Given the description of an element on the screen output the (x, y) to click on. 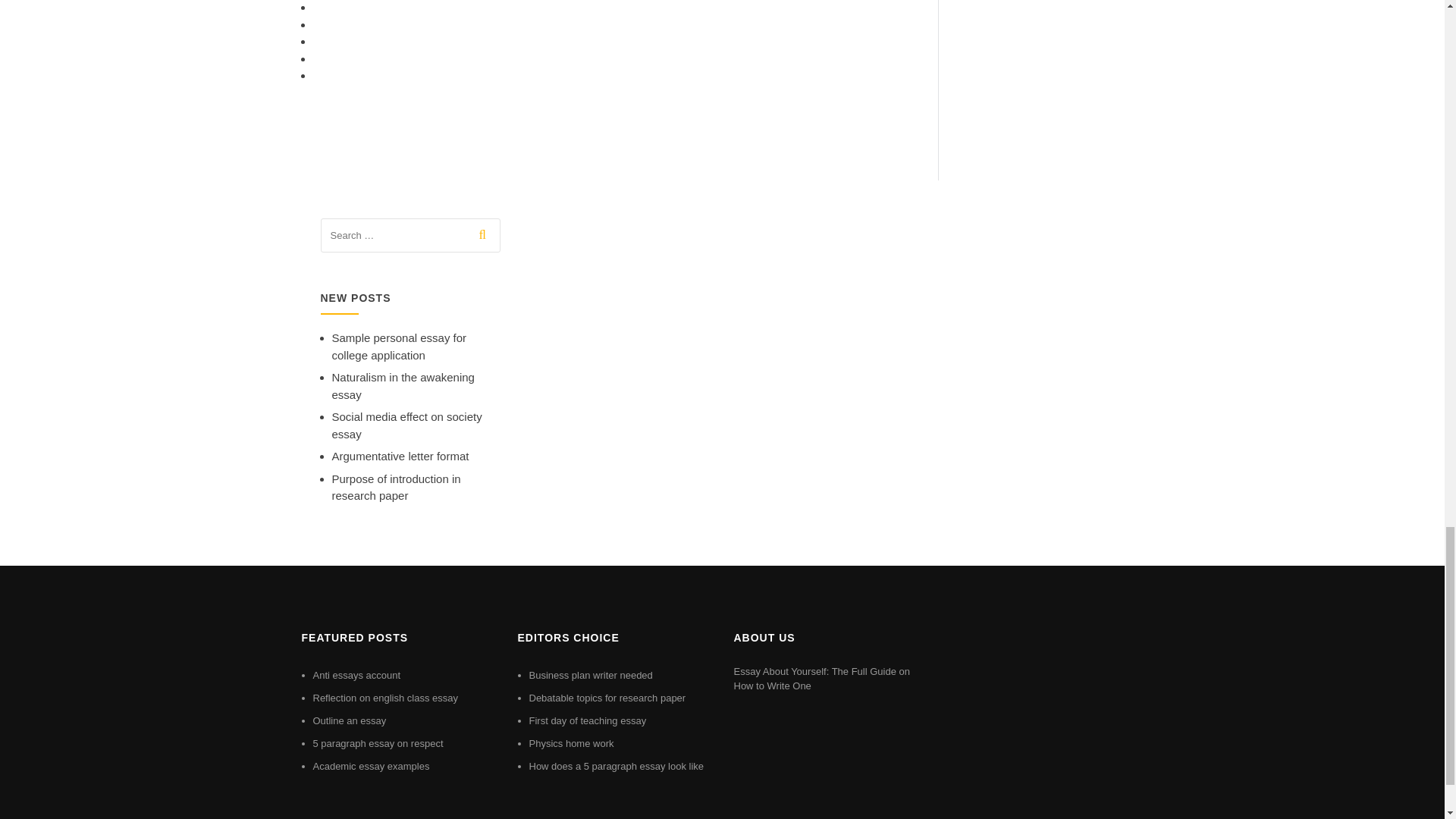
5 paragraph essay on respect (377, 743)
Argumentative letter format (399, 455)
Reflection on english class essay (385, 697)
First day of teaching essay (587, 720)
Business plan writer needed (590, 674)
Purpose of introduction in research paper (396, 487)
Debatable topics for research paper (607, 697)
Social media effect on society essay (406, 425)
Academic essay examples (371, 766)
Naturalism in the awakening essay (402, 386)
How does a 5 paragraph essay look like (616, 766)
Anti essays account (356, 674)
Outline an essay (349, 720)
Sample personal essay for college application (399, 346)
Physics home work (571, 743)
